Given the description of an element on the screen output the (x, y) to click on. 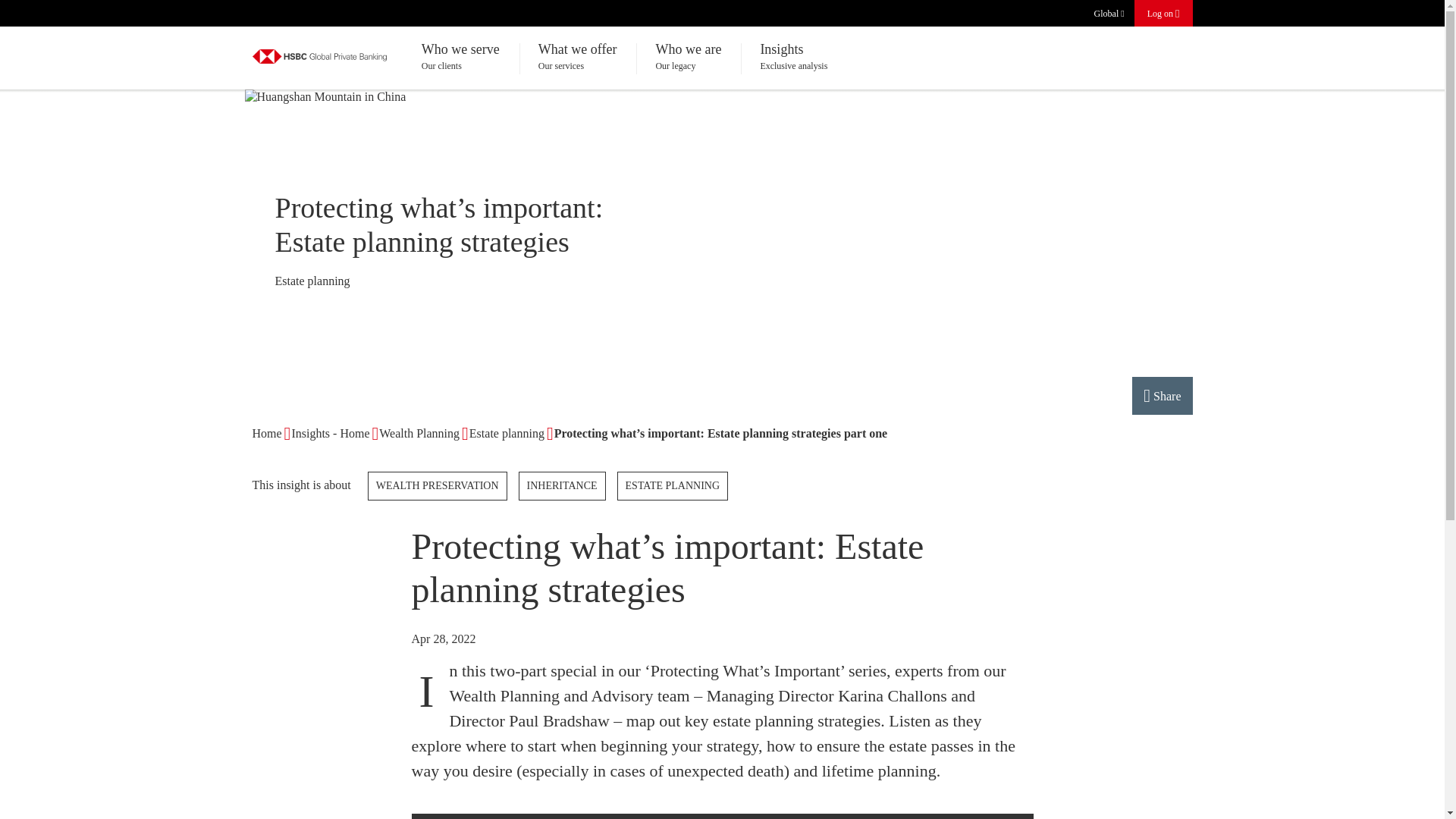
Log on (1163, 13)
